Given the description of an element on the screen output the (x, y) to click on. 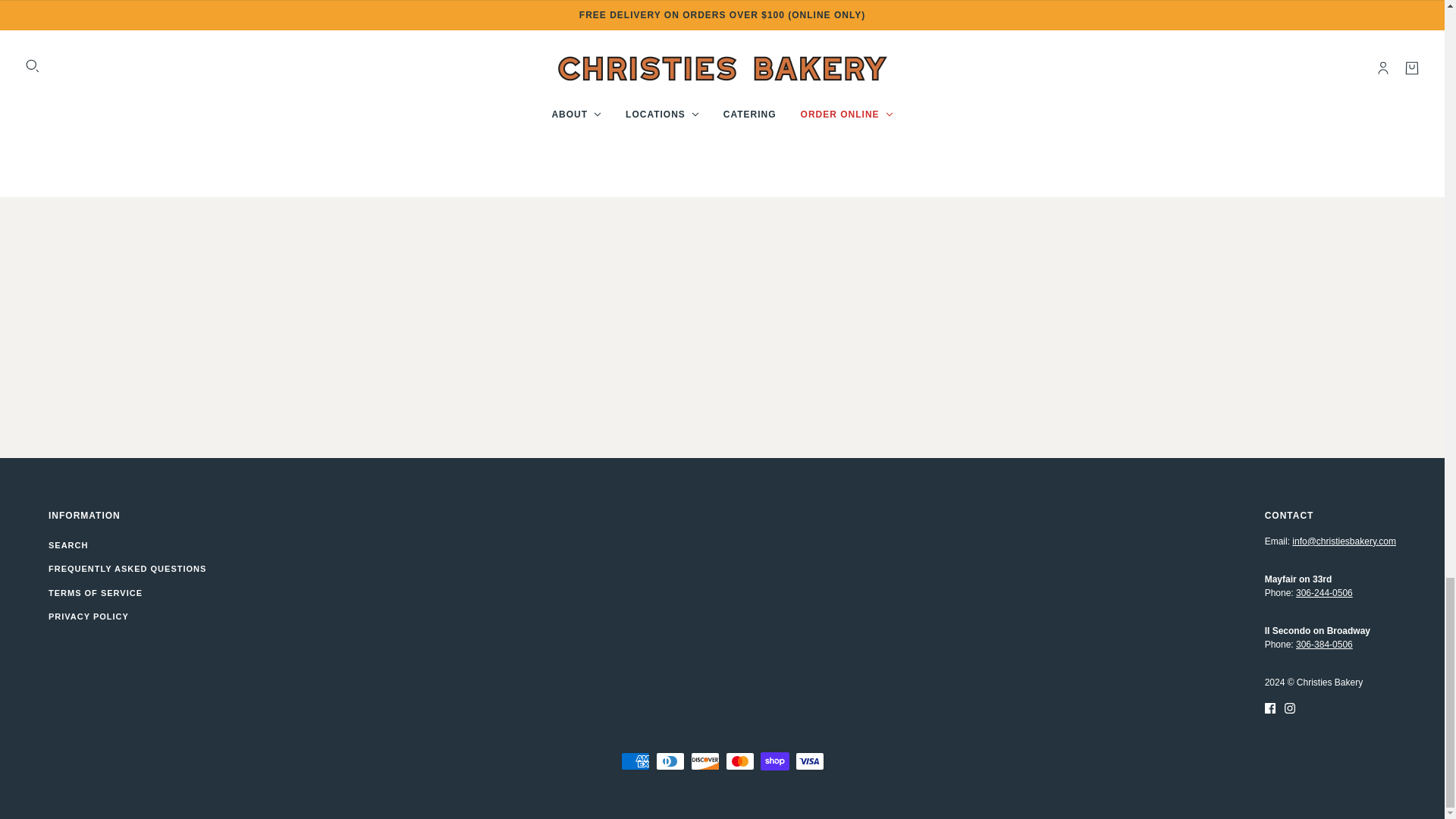
Terms of Service (95, 592)
Frequently Asked Questions (127, 568)
tel:306-244-0506 (1323, 593)
Privacy Policy (88, 615)
tel:306-384-0506 (1323, 644)
